Given the description of an element on the screen output the (x, y) to click on. 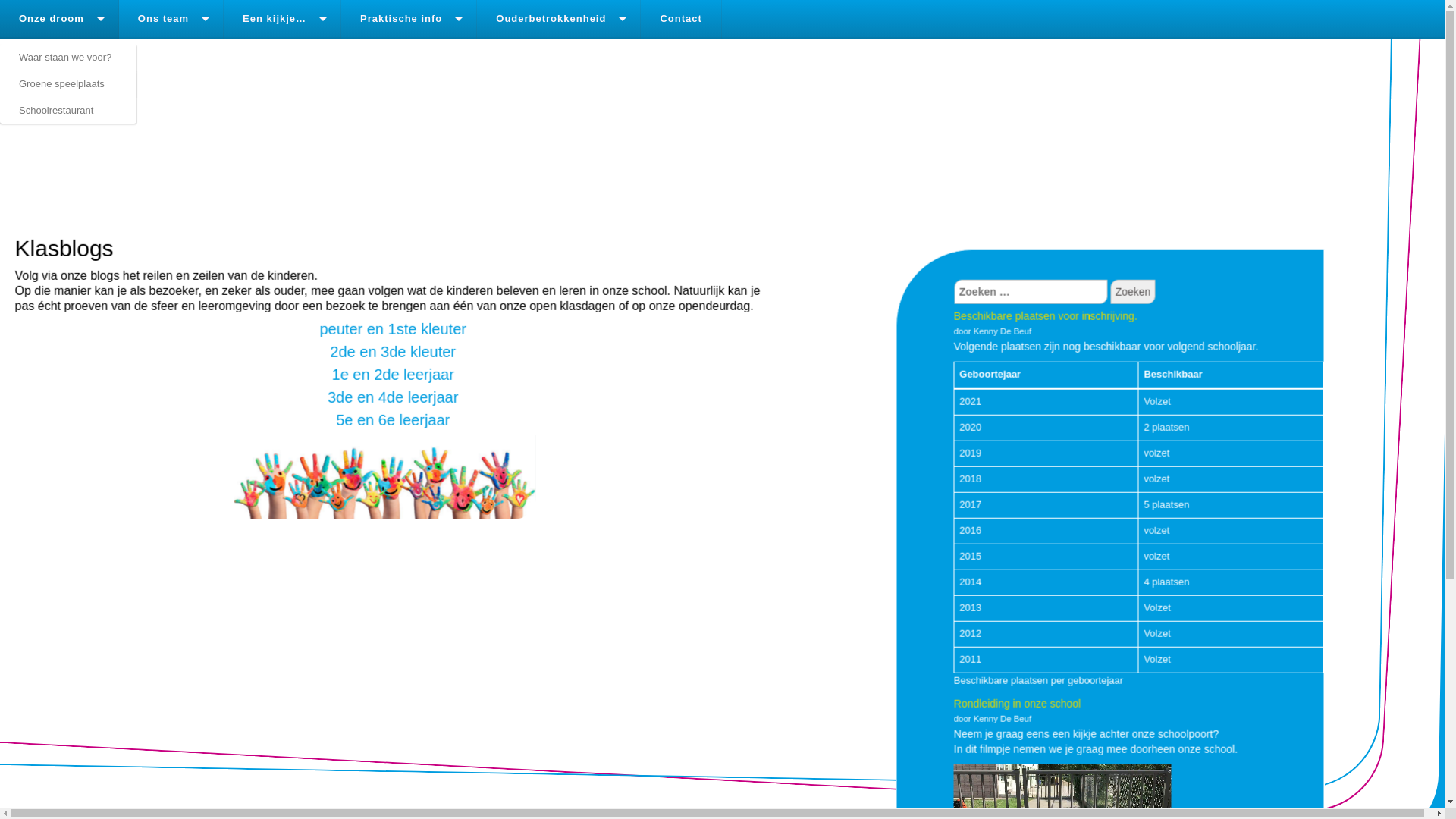
2de en 3de kleuter Element type: text (392, 350)
Waar staan we voor? Element type: text (68, 56)
Ons team Element type: text (171, 19)
Rondleiding in onze school Element type: text (1016, 702)
Zoeken Element type: text (1132, 291)
1e en 2de leerjaar Element type: text (392, 373)
5e en 6e leerjaar Element type: text (392, 419)
Schoolrestaurant Element type: text (68, 110)
Ouderbetrokkenheid Element type: text (558, 19)
Beschikbare plaatsen voor inschrijving. Element type: text (1044, 315)
Contact Element type: text (680, 19)
Onze droom Element type: text (59, 19)
3de en 4de leerjaar Element type: text (392, 396)
Groene speelplaats Element type: text (68, 83)
peuter en 1ste kleuter Element type: text (392, 328)
Praktische info Element type: text (408, 19)
